Given the description of an element on the screen output the (x, y) to click on. 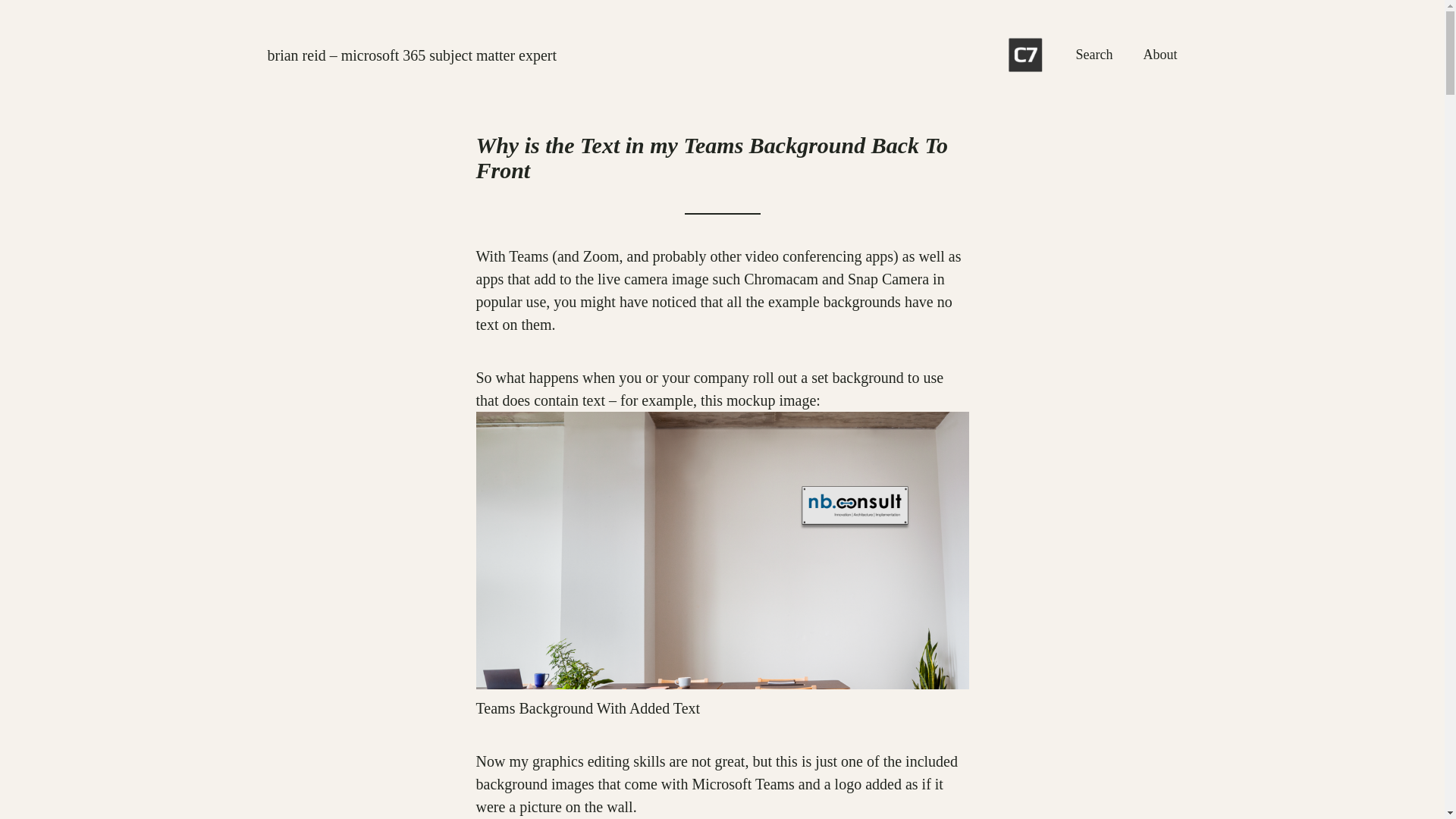
About (1159, 55)
Search (1094, 55)
